Given the description of an element on the screen output the (x, y) to click on. 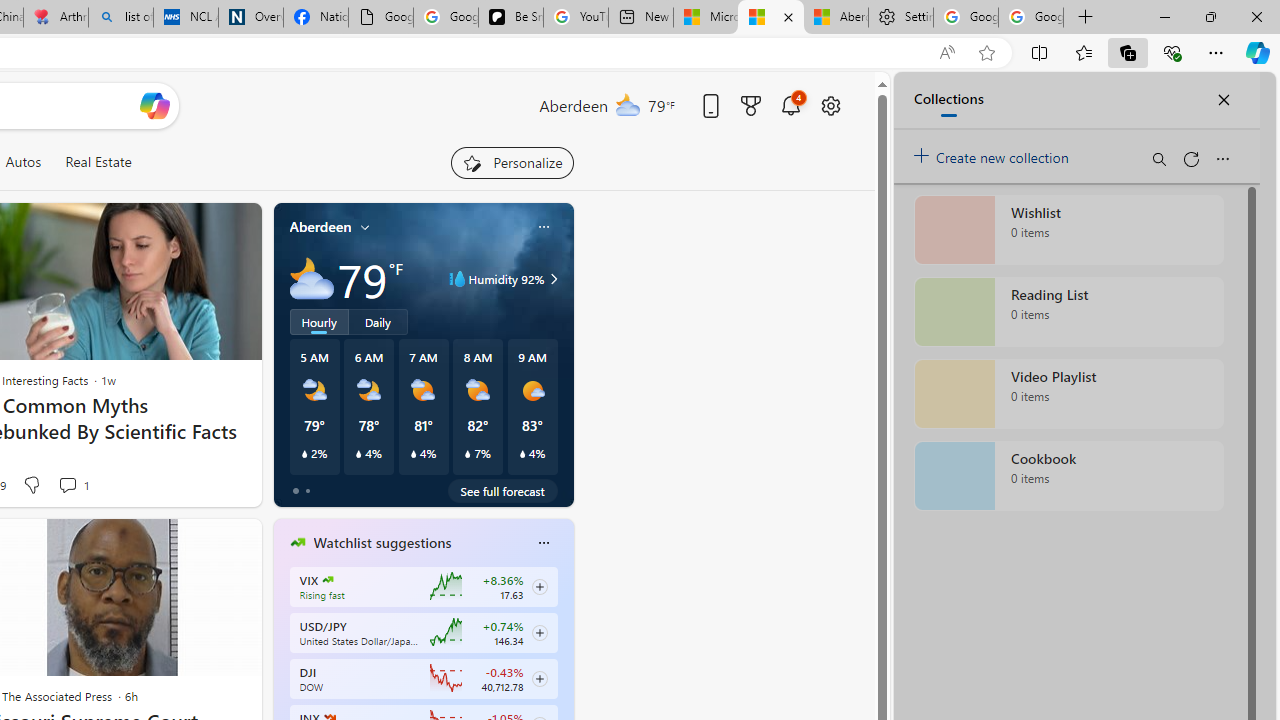
Google Analytics Opt-out Browser Add-on Download Page (381, 17)
My location (365, 227)
Mostly cloudy (311, 278)
